Given the description of an element on the screen output the (x, y) to click on. 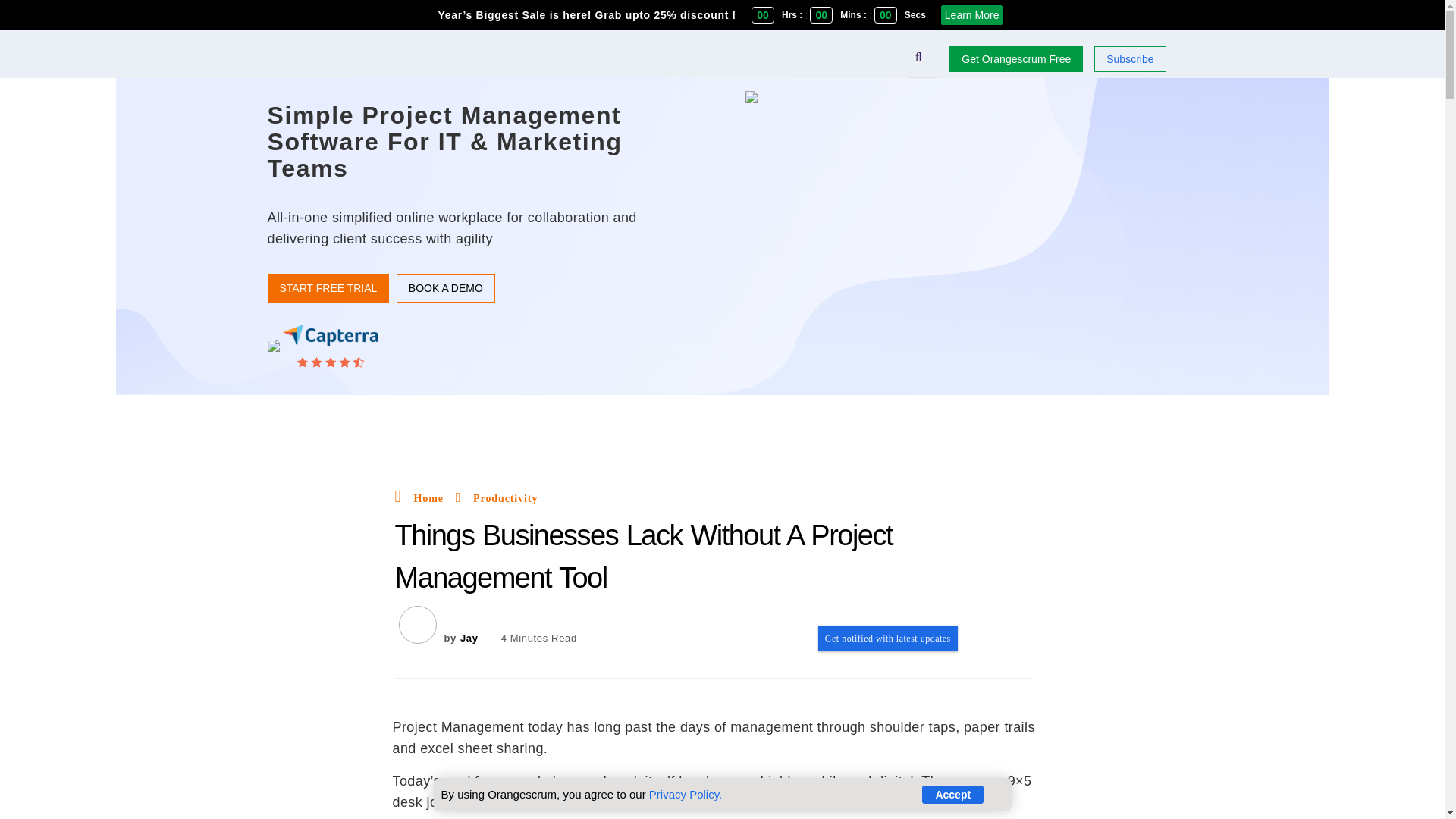
Home Page (427, 498)
Learn More (971, 14)
